Given the description of an element on the screen output the (x, y) to click on. 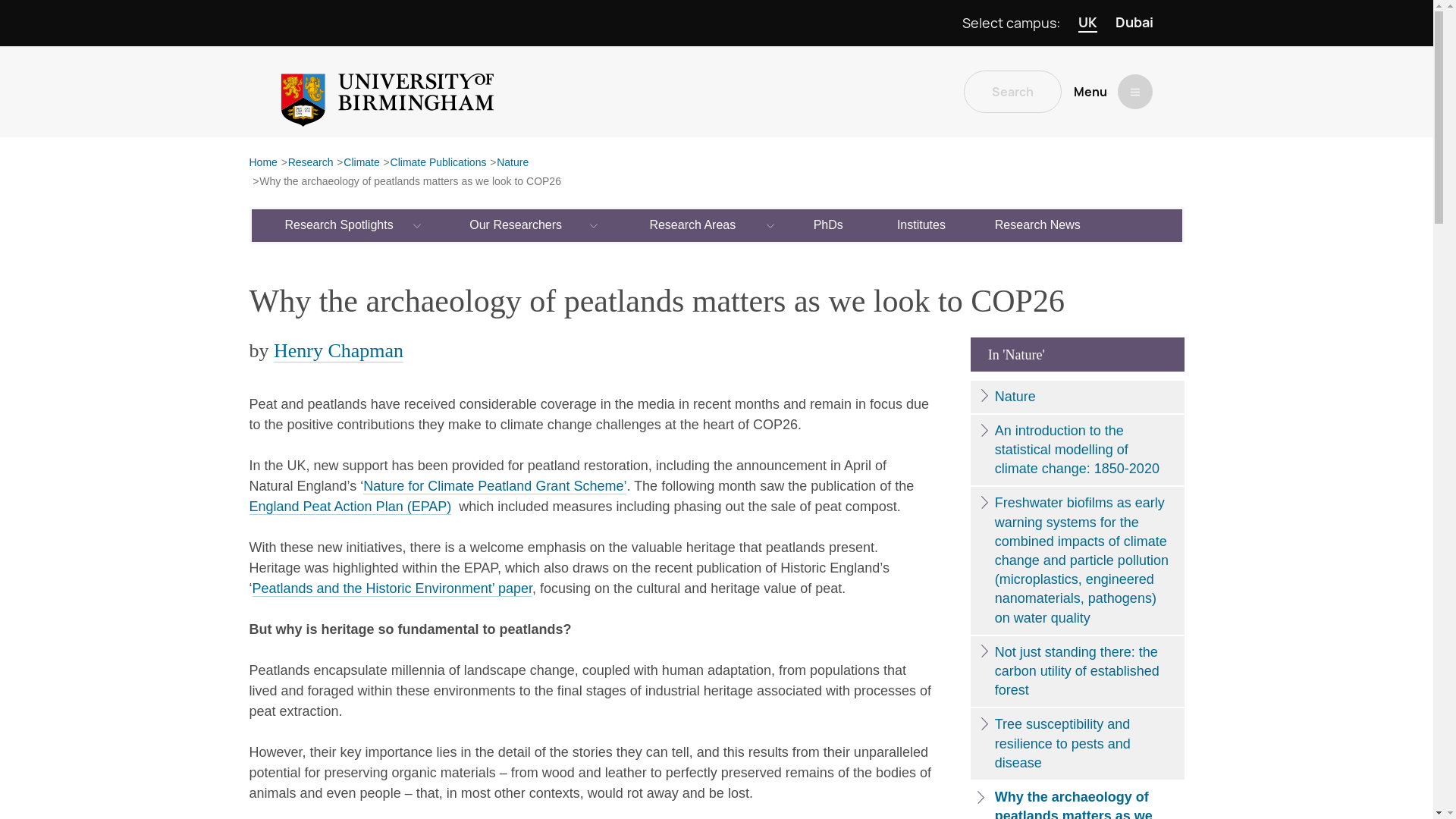
UK (1087, 23)
Research Spotlights (339, 224)
Research (310, 163)
Climate (360, 163)
Search (1012, 91)
Research Areas (693, 224)
Home (262, 163)
Our Researchers (516, 224)
Nature (512, 163)
Why the archaeology of peatlands matters as we look to COP26 (409, 182)
Dubai (1134, 23)
Climate Publications (438, 163)
